Given the description of an element on the screen output the (x, y) to click on. 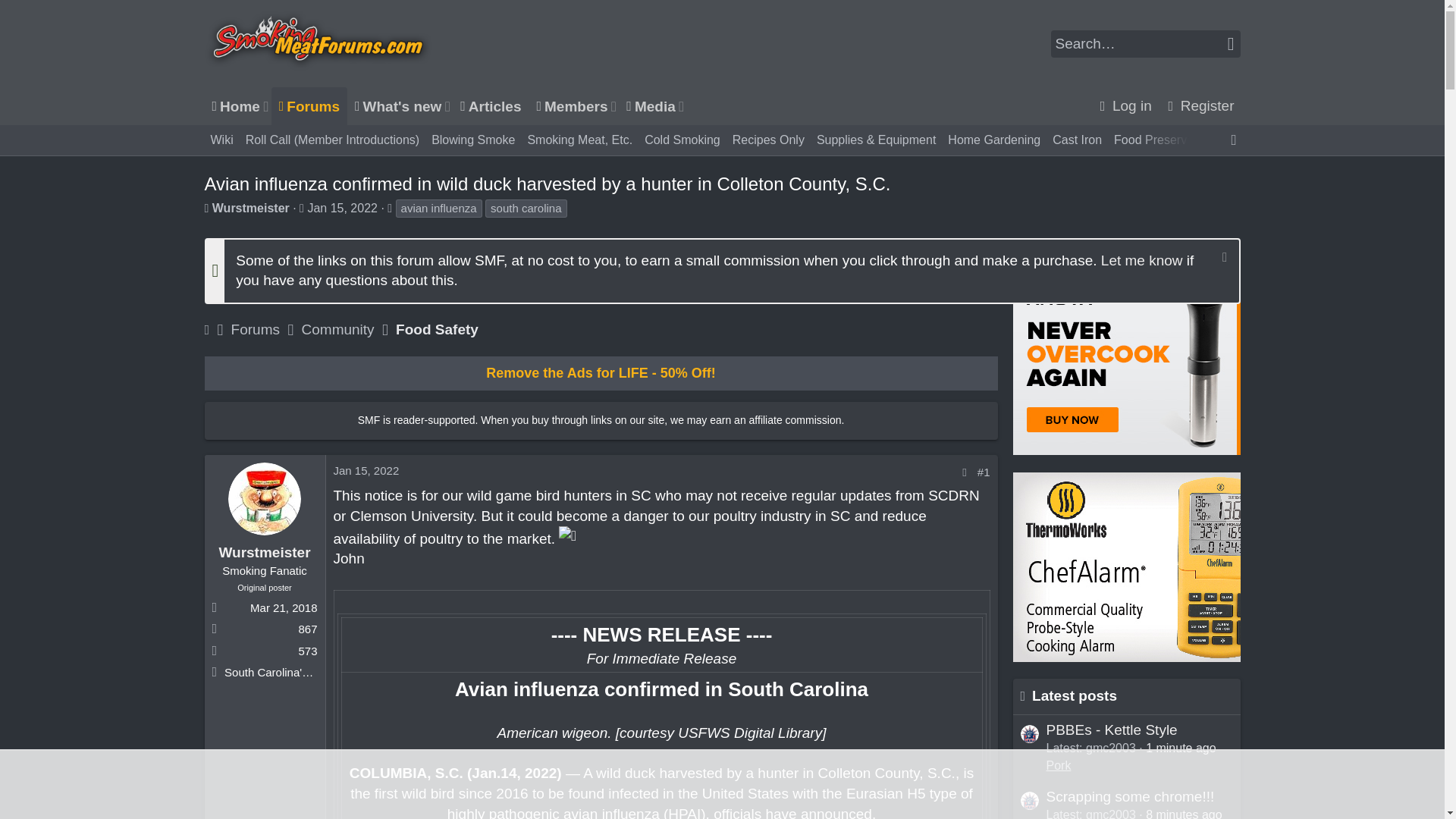
What's new (394, 105)
Jan 15, 2022 at 10:31 PM (365, 470)
Jan 15, 2022 at 10:31 PM (342, 207)
Thread starter (207, 208)
Clinking beer mugs    :beers: (567, 536)
Forums (308, 105)
Start date (446, 105)
Home (301, 208)
Tags (233, 105)
